Given the description of an element on the screen output the (x, y) to click on. 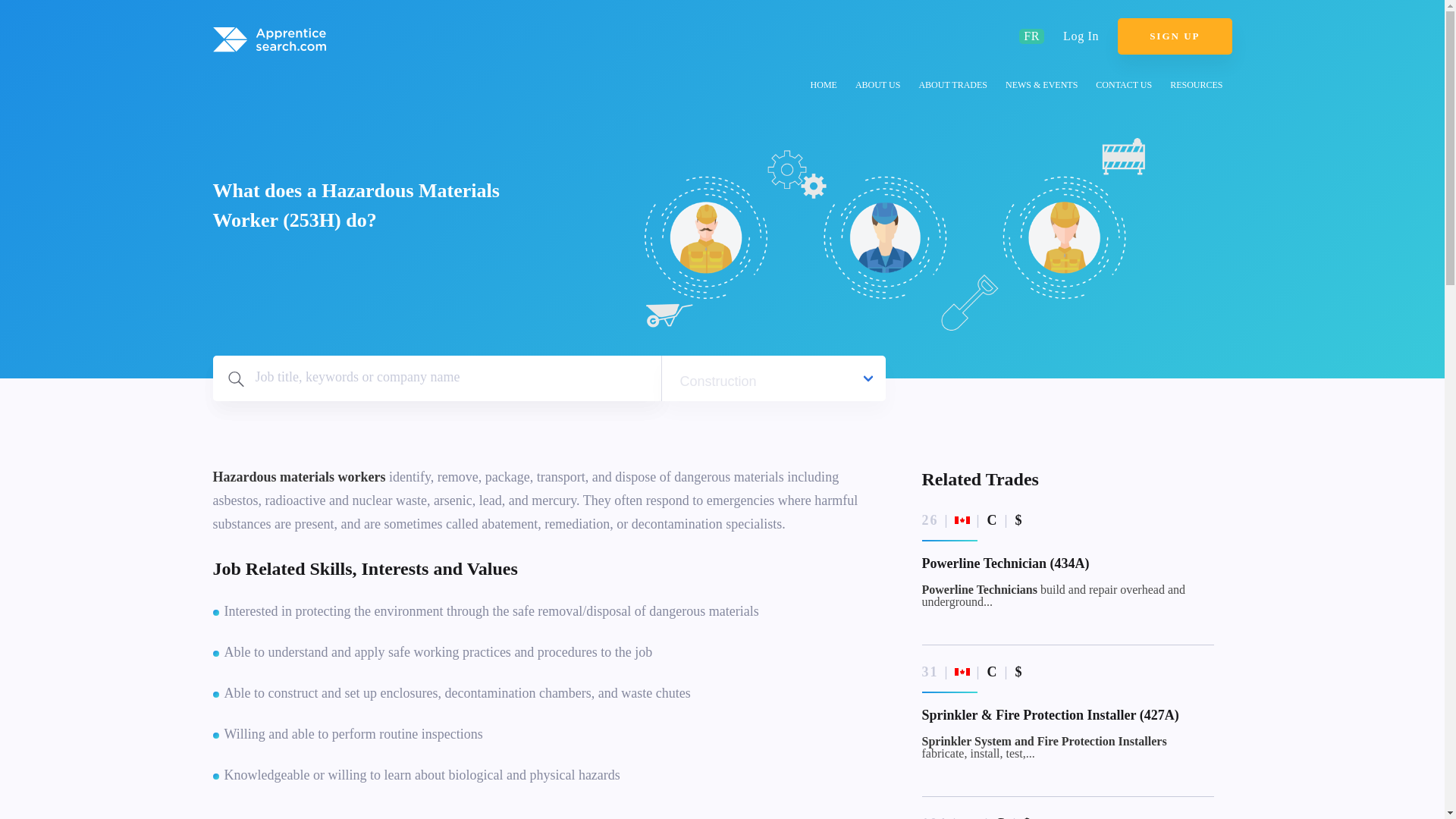
ABOUT TRADES (951, 87)
CONTACT US (1123, 87)
ABOUT US (876, 87)
RESOURCES (1195, 87)
FR (1031, 36)
SIGN UP (1174, 36)
FR (1031, 36)
HOME (823, 87)
Log In (1080, 36)
